Given the description of an element on the screen output the (x, y) to click on. 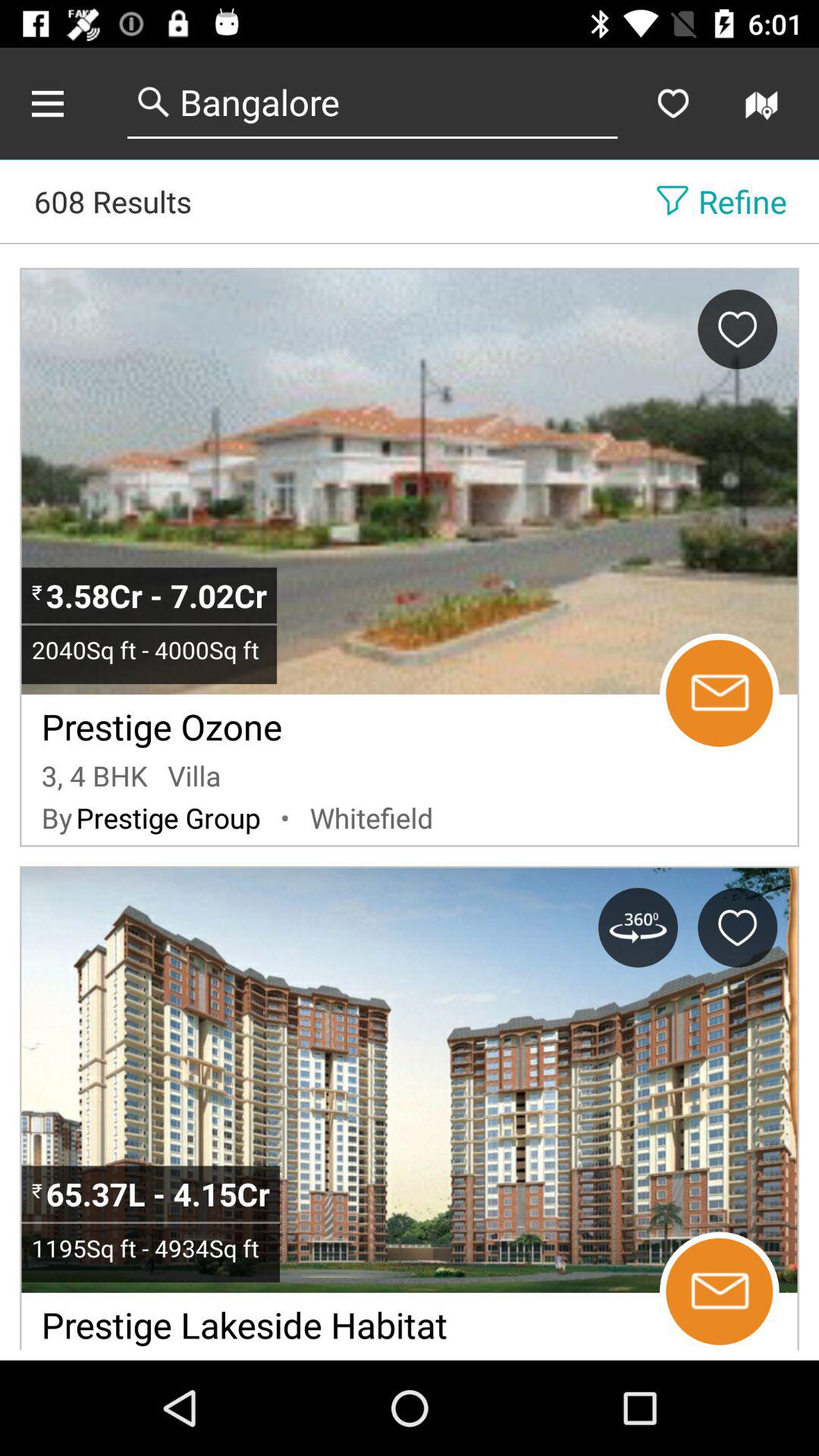
email this (719, 1291)
